Given the description of an element on the screen output the (x, y) to click on. 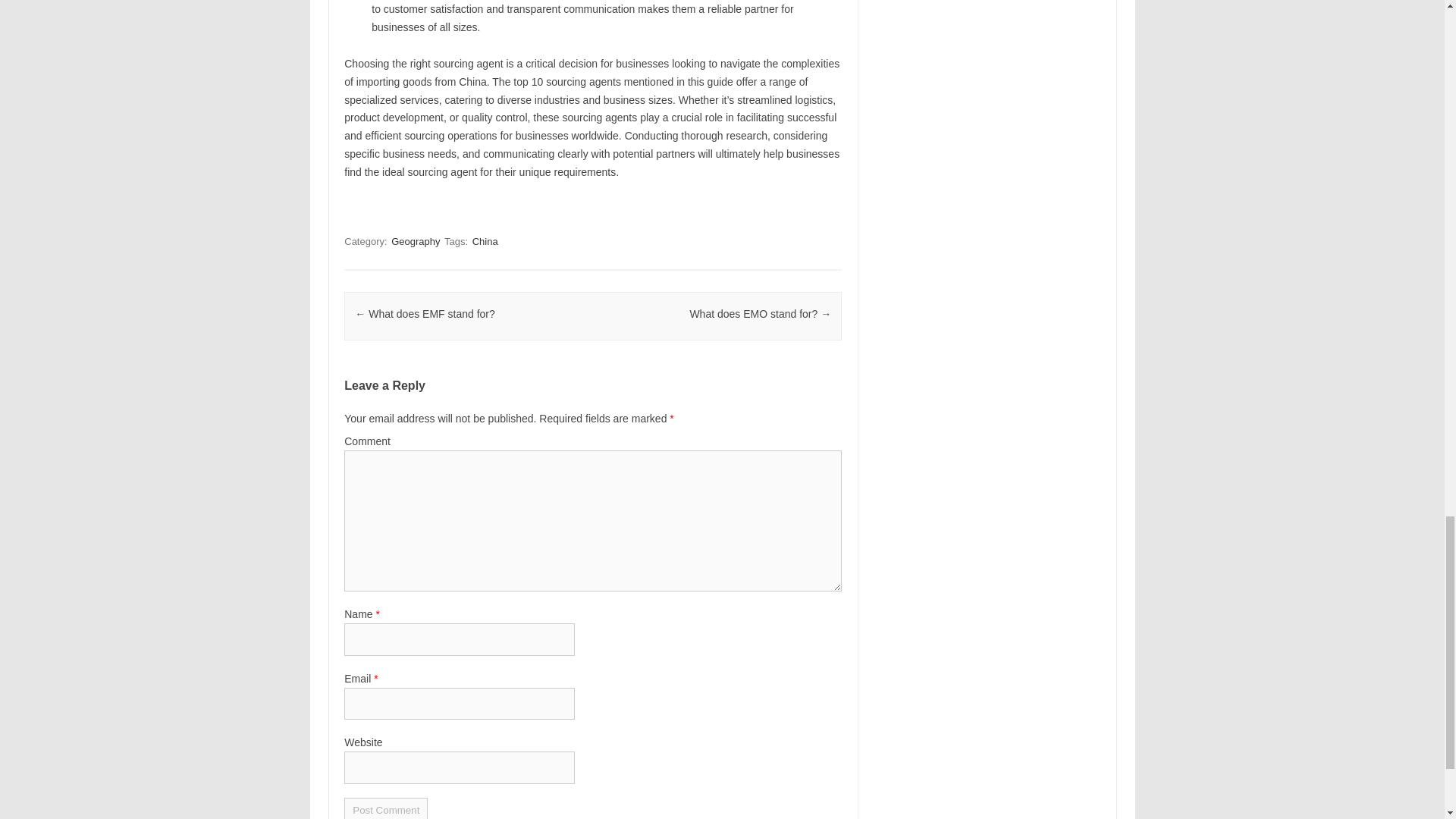
China (484, 241)
Geography (415, 241)
Post Comment (385, 808)
Post Comment (385, 808)
